Given the description of an element on the screen output the (x, y) to click on. 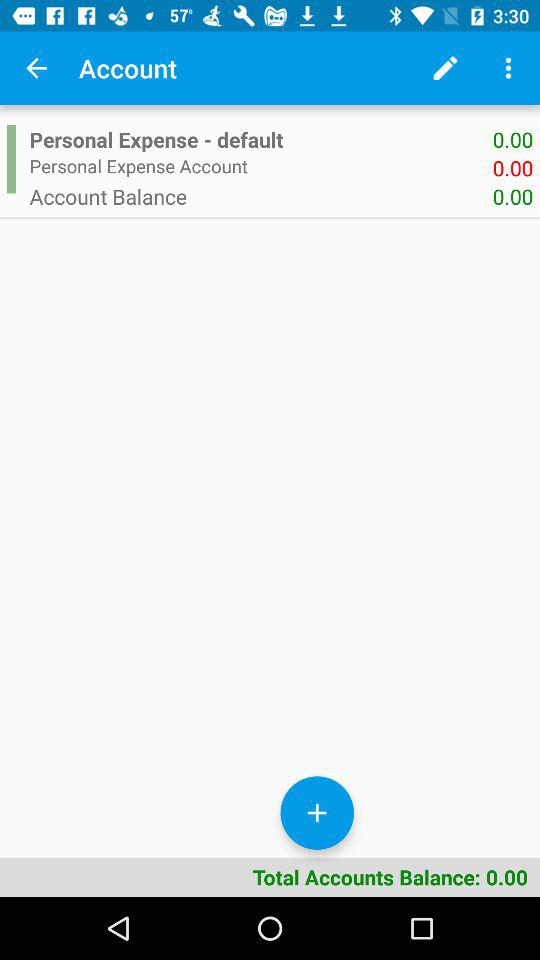
click icon to the left of the account app (36, 68)
